Given the description of an element on the screen output the (x, y) to click on. 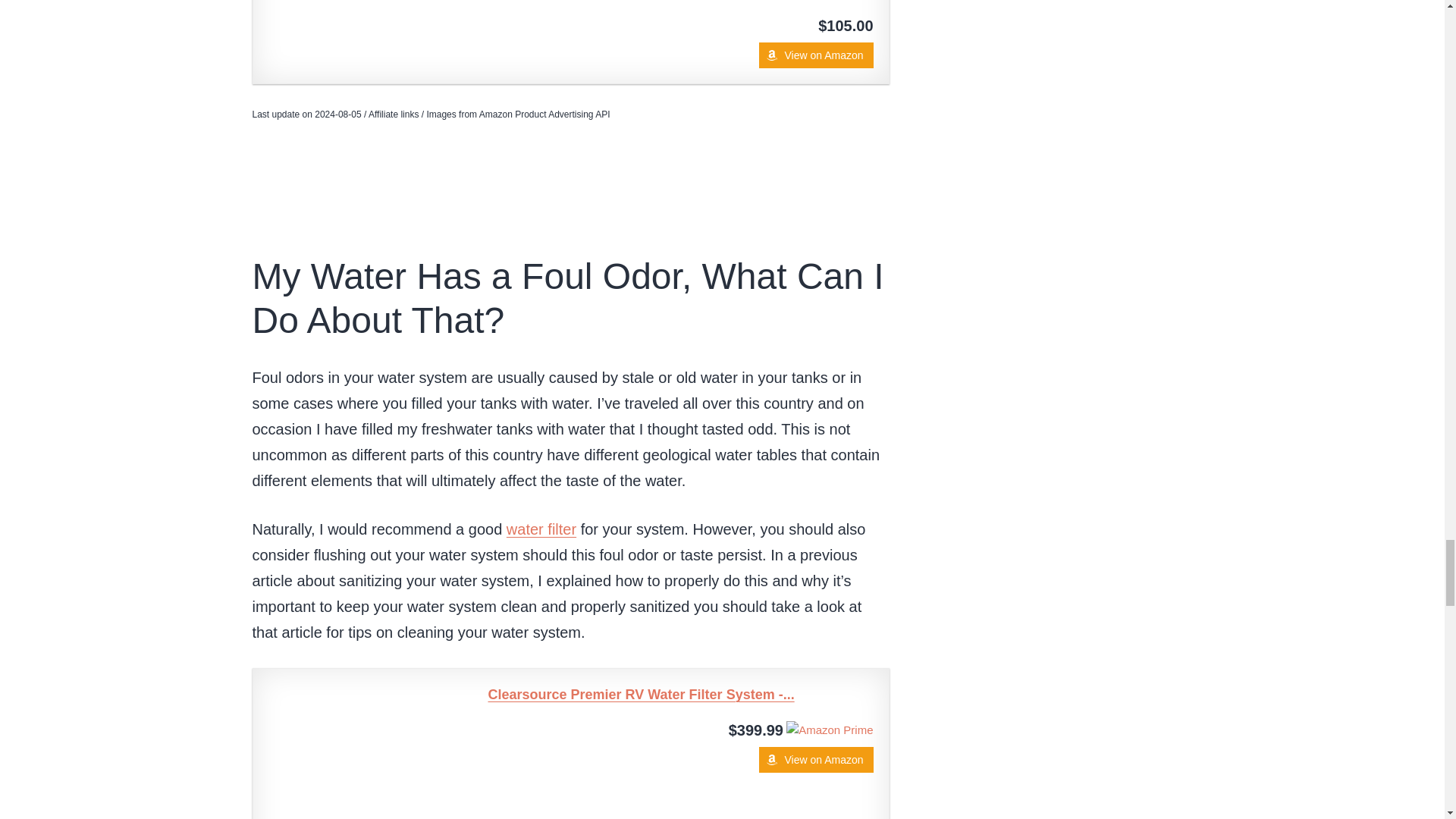
View on Amazon (815, 759)
Clearsource Premier RV Water Filter System -... (680, 694)
water filter (541, 528)
Clearsource Premier RV Water Filter System -... (680, 694)
Clearsource Premier RV Water Filter System -... (362, 751)
View on Amazon (815, 54)
View on Amazon (815, 759)
View on Amazon (815, 54)
Precitrade Shurflo 2088-554-144 Fresh Water Pump,... (362, 15)
Amazon Prime (829, 728)
